Given the description of an element on the screen output the (x, y) to click on. 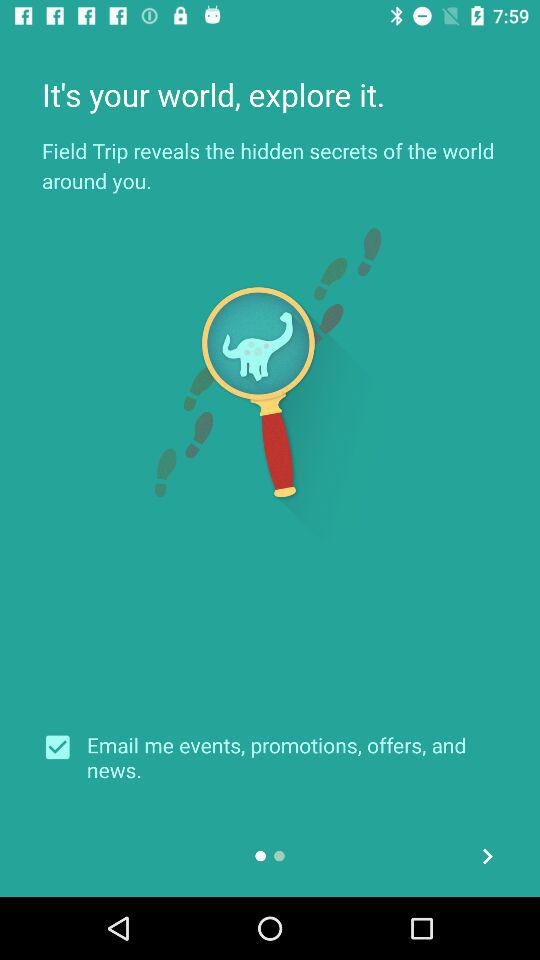
go to next page (487, 856)
